Given the description of an element on the screen output the (x, y) to click on. 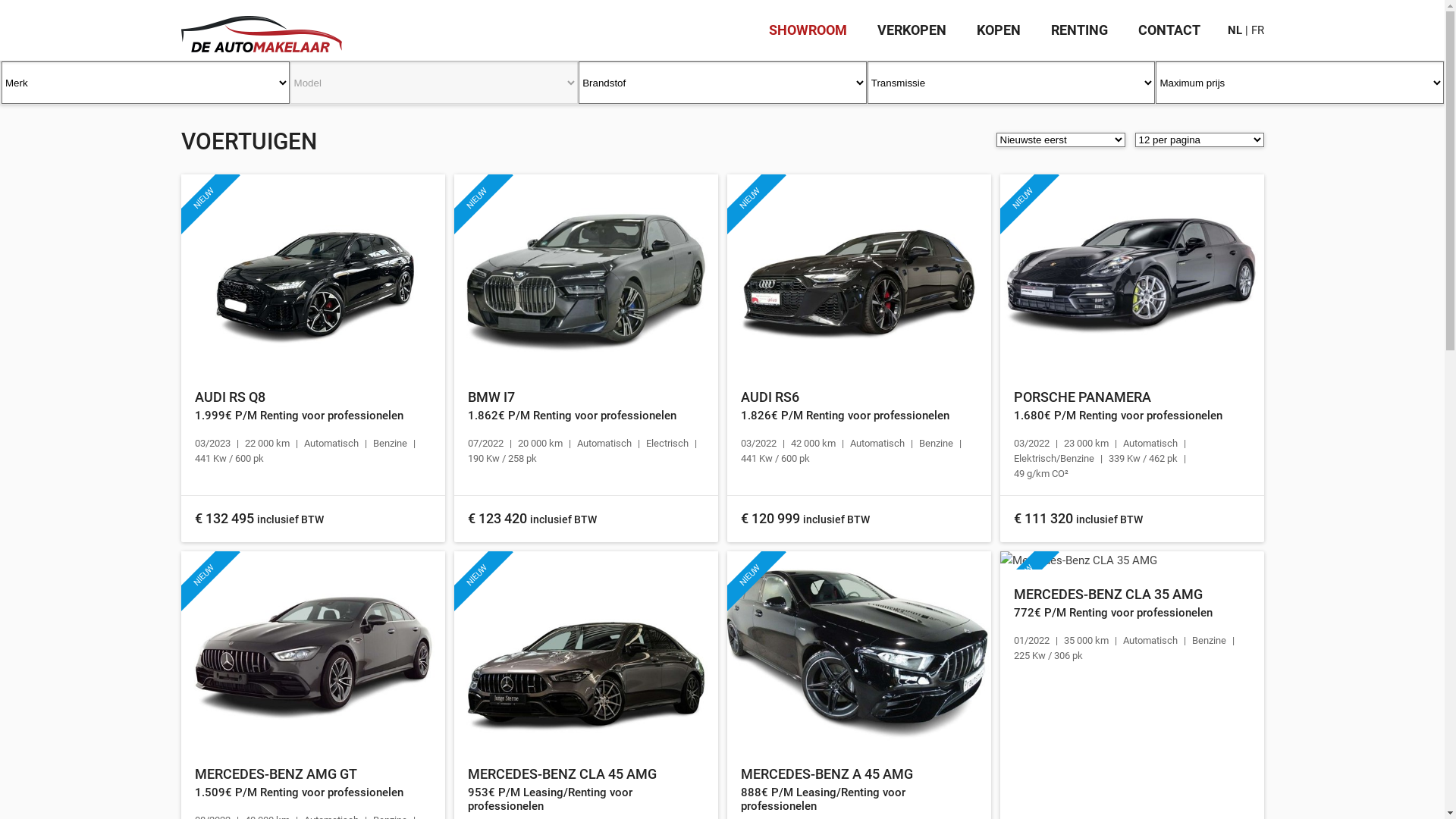
KOPEN Element type: text (998, 30)
Mercedes-Benz CLA 35 AMG Element type: hover (1131, 560)
RENTING Element type: text (1079, 30)
FR Element type: text (1257, 30)
SHOWROOM Element type: text (807, 30)
Mercedes-Benz CLA 45 AMG Element type: hover (585, 650)
Mercedes-Benz A 45 AMG Element type: hover (858, 650)
Audi RS6 Element type: hover (858, 273)
Automakelaar Element type: hover (261, 26)
VERKOPEN Element type: text (910, 30)
NL Element type: text (1233, 30)
CONTACT Element type: text (1168, 30)
Audi RS Q8 Element type: hover (312, 273)
Porsche Panamera Element type: hover (1131, 273)
Mercedes-Benz AMG GT Element type: hover (312, 650)
BMW i7 Element type: hover (585, 273)
